Given the description of an element on the screen output the (x, y) to click on. 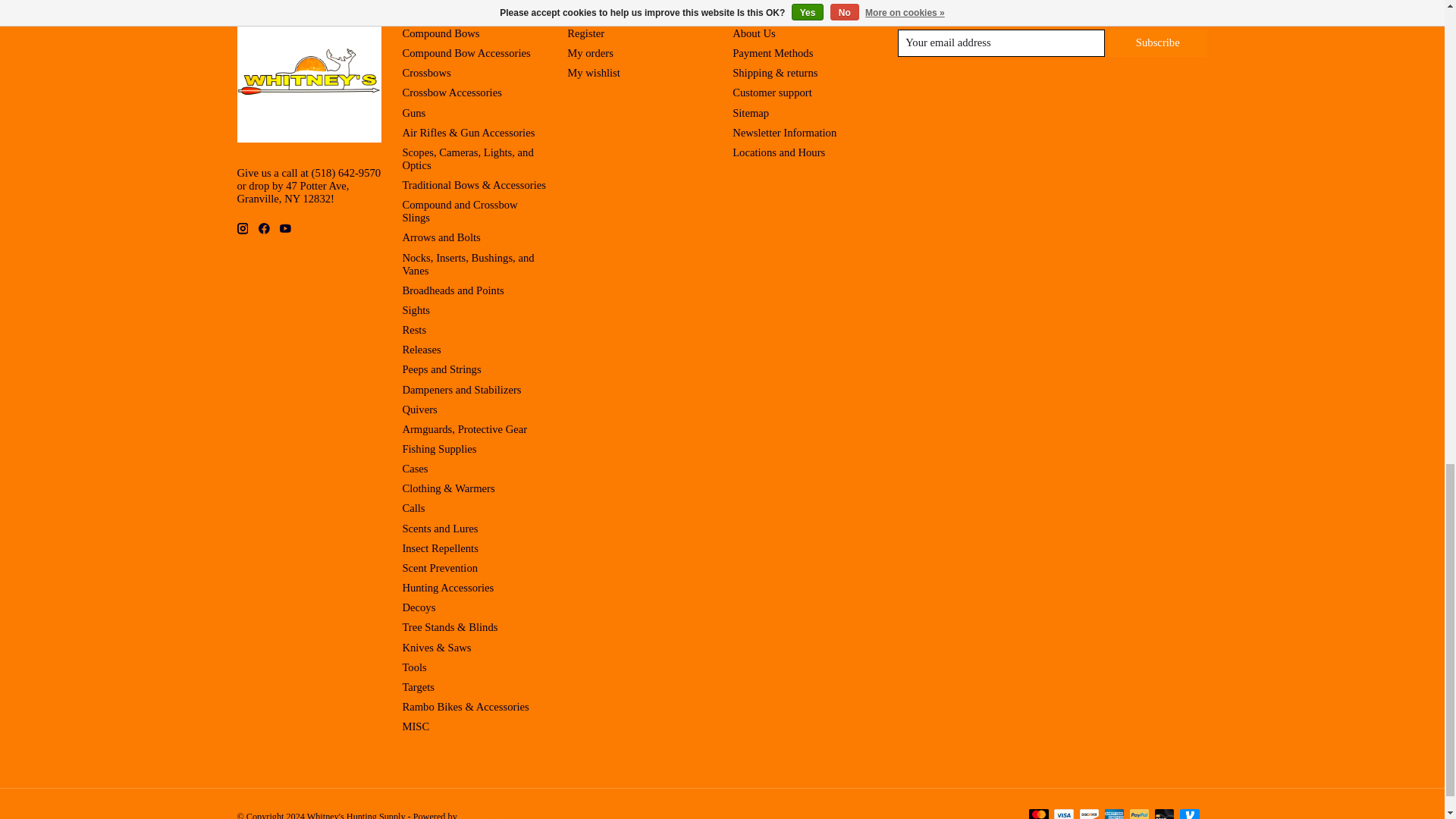
Customer support (772, 92)
Sitemap (750, 112)
My wishlist (593, 72)
Payment Methods (772, 52)
About Us (754, 33)
My orders (589, 52)
Register (585, 33)
